Given the description of an element on the screen output the (x, y) to click on. 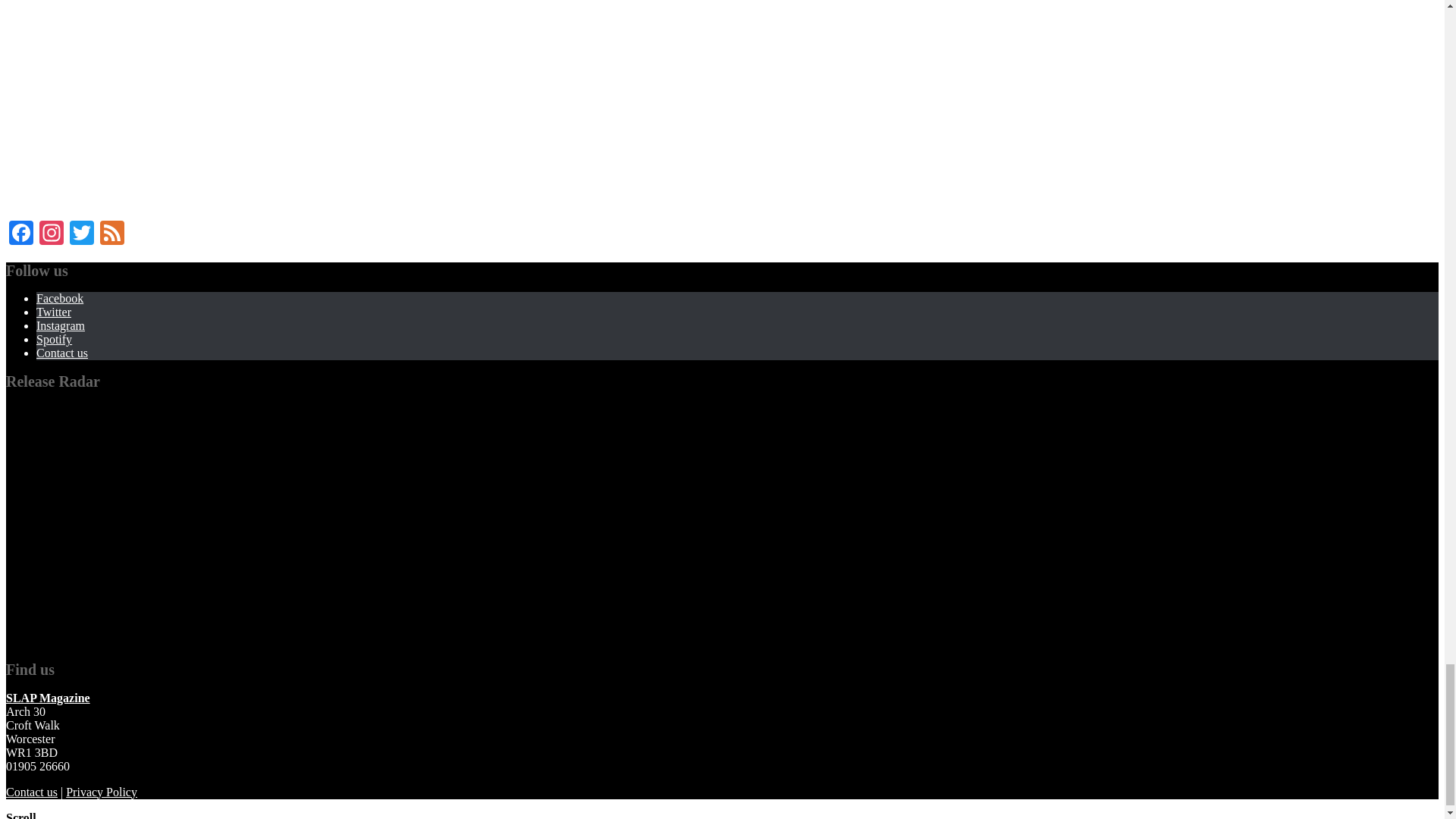
Contact SLAP Mag (31, 791)
Twitter (81, 234)
RSS Feed (112, 234)
Facebook (20, 234)
Privacy Policy (100, 791)
Instagram (51, 234)
